Given the description of an element on the screen output the (x, y) to click on. 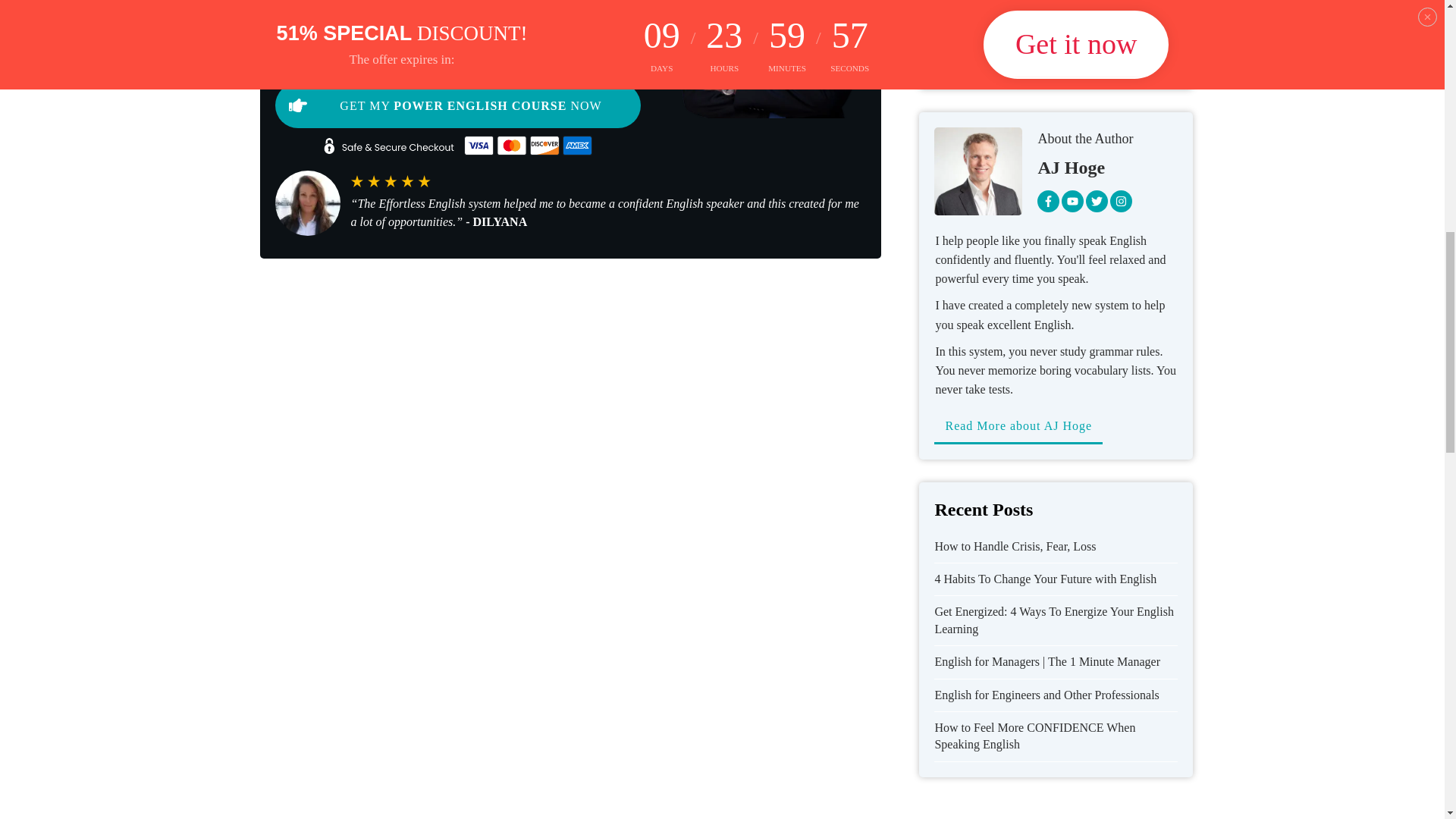
English for Engineers and Other Professionals (1046, 694)
Get Energized: 4 Ways To Energize Your English Learning (1053, 619)
4 Habits To Change Your Future with English (1045, 578)
checkout-aj (764, 58)
How to Handle Crisis, Fear, Loss (1015, 545)
Dilyanaphoto (307, 202)
